Given the description of an element on the screen output the (x, y) to click on. 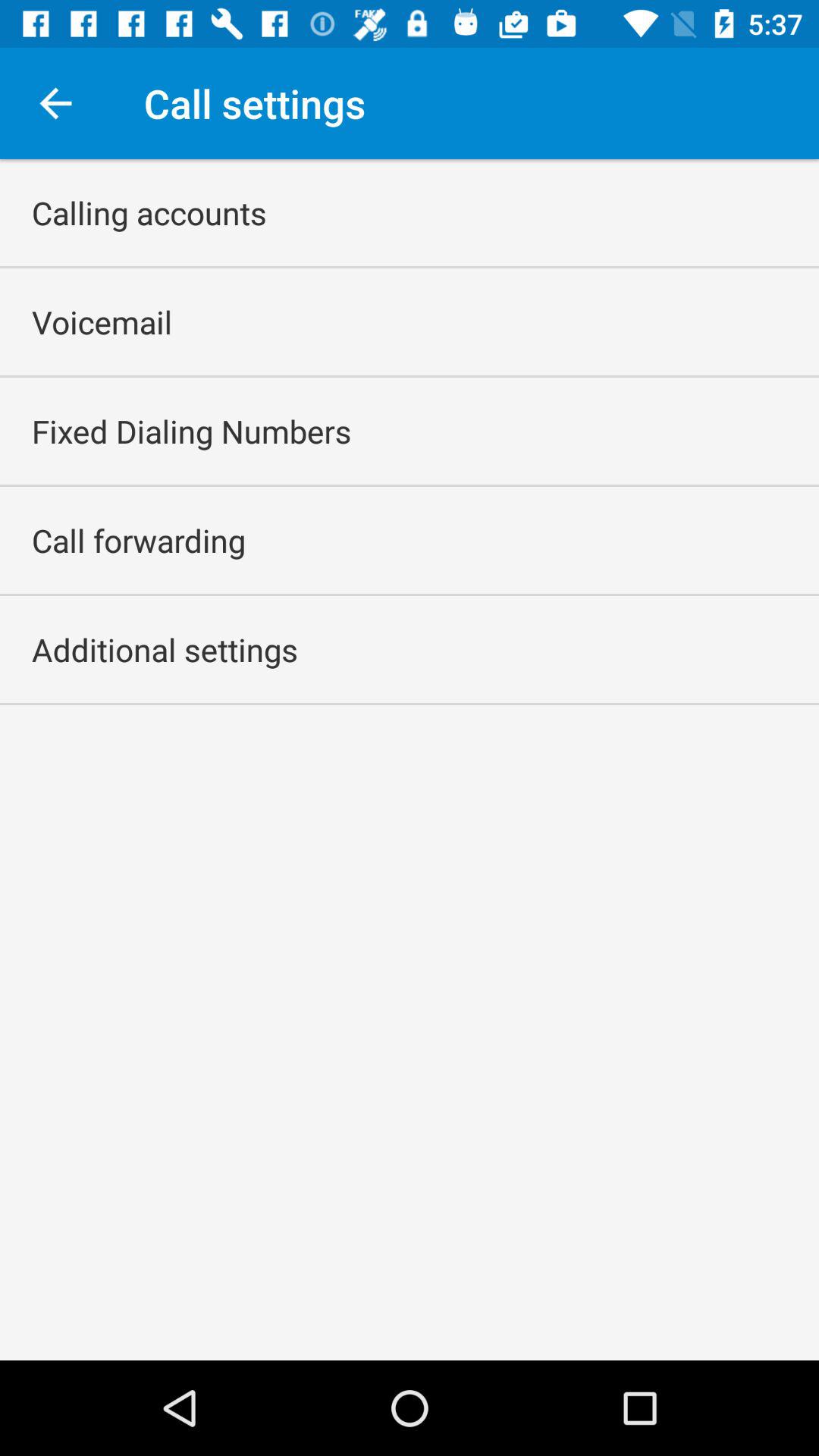
launch voicemail item (101, 321)
